Given the description of an element on the screen output the (x, y) to click on. 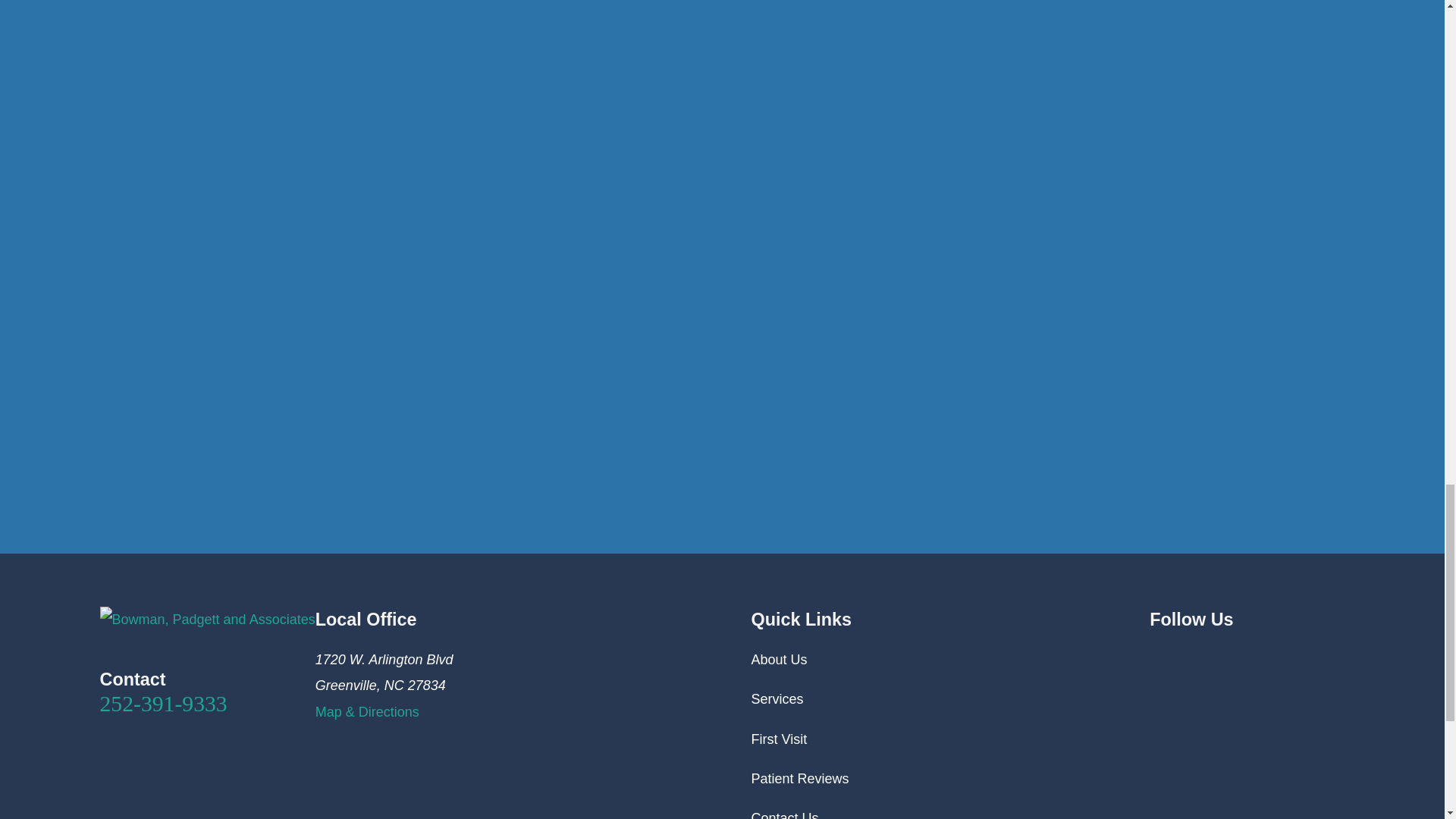
Yelp (1306, 656)
Facebook (1275, 656)
YouTube (1217, 656)
Home (207, 619)
Twitter (1159, 656)
LinkedIn (1188, 656)
Pinterest (1246, 656)
